Given the description of an element on the screen output the (x, y) to click on. 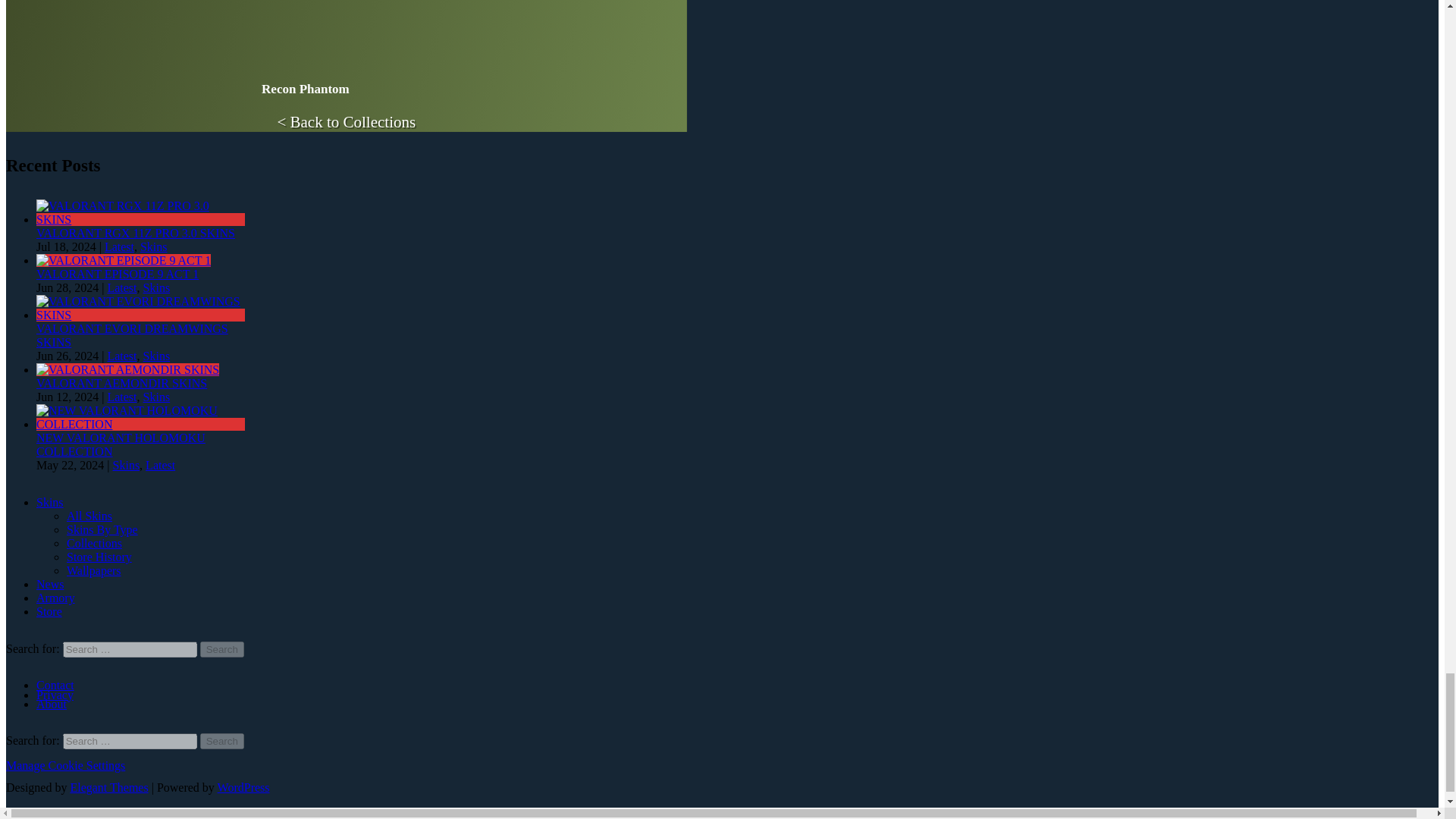
VALORANT RGX 11Z PRO 3.0 SKINS (135, 232)
VALORANT EPISODE 9 ACT 1 (123, 259)
Skins (156, 287)
Skins (153, 246)
Latest (121, 287)
VALORANT RGX 11Z PRO 3.0 SKINS (140, 219)
NEW VALORANT HOLOMOKU COLLECTION (120, 444)
VALORANT EVORI DREAMWINGS SKINS (132, 335)
Search (222, 649)
VALORANT EPISODE 9 ACT 1 (117, 273)
Latest (121, 396)
Latest (121, 355)
Search (222, 741)
VALORANT AEMONDIR SKINS (121, 382)
Skins (156, 396)
